Given the description of an element on the screen output the (x, y) to click on. 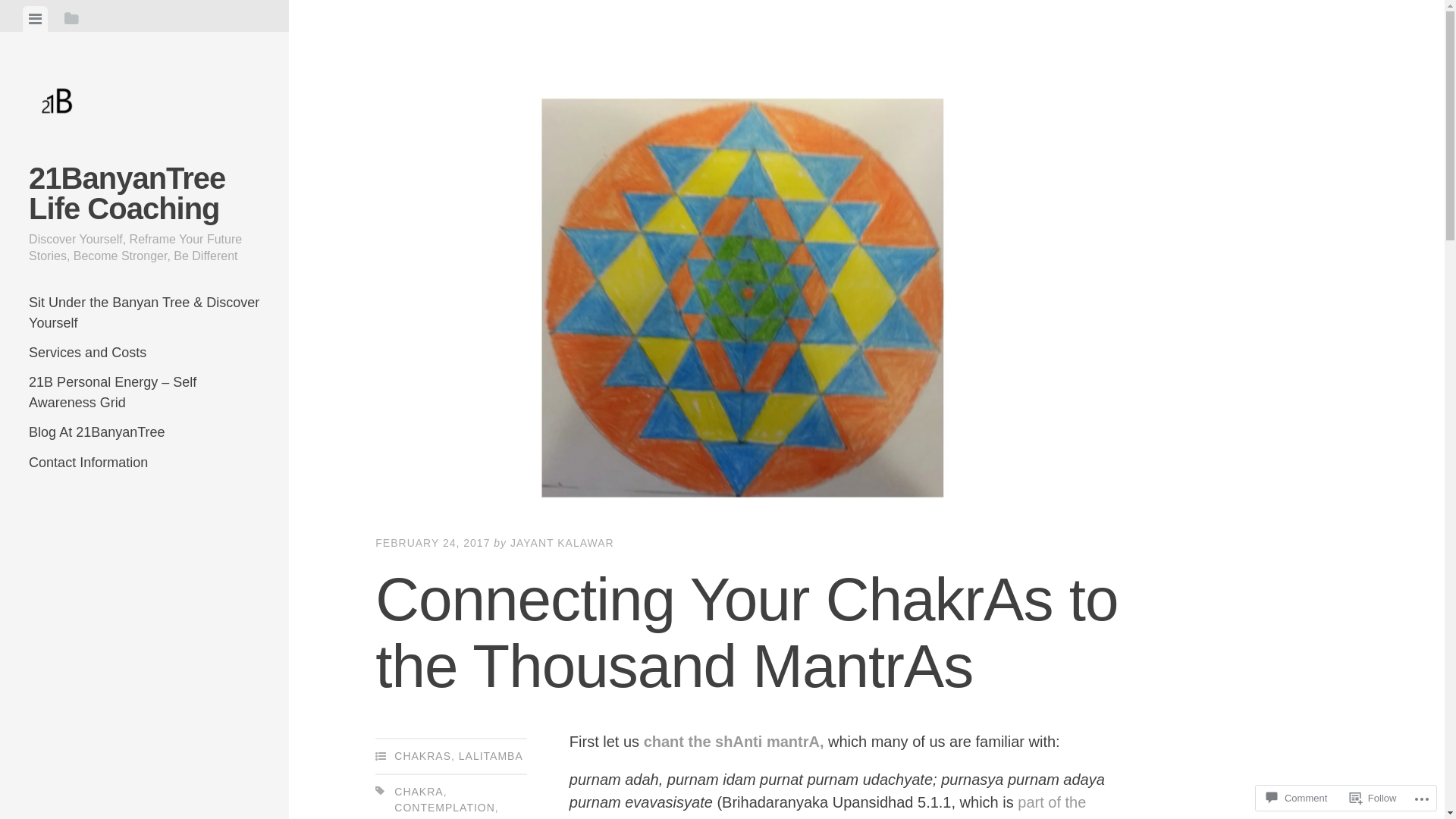
FEBRUARY 24, 2017 Element type: text (432, 542)
chant the shAnti mantrA, Element type: text (733, 741)
Follow Element type: text (1372, 797)
CHAKRAS Element type: text (422, 755)
CHAKRA Element type: text (418, 791)
Services and Costs Element type: text (144, 352)
21BanyanTree Life Coaching Element type: text (126, 193)
Blog At 21BanyanTree Element type: text (144, 432)
Comment Element type: text (1296, 797)
Contact Information Element type: text (144, 462)
JAYANT KALAWAR Element type: text (562, 542)
Sit Under the Banyan Tree & Discover Yourself Element type: text (144, 313)
LALITAMBA Element type: text (490, 755)
CONTEMPLATION Element type: text (444, 807)
